Given the description of an element on the screen output the (x, y) to click on. 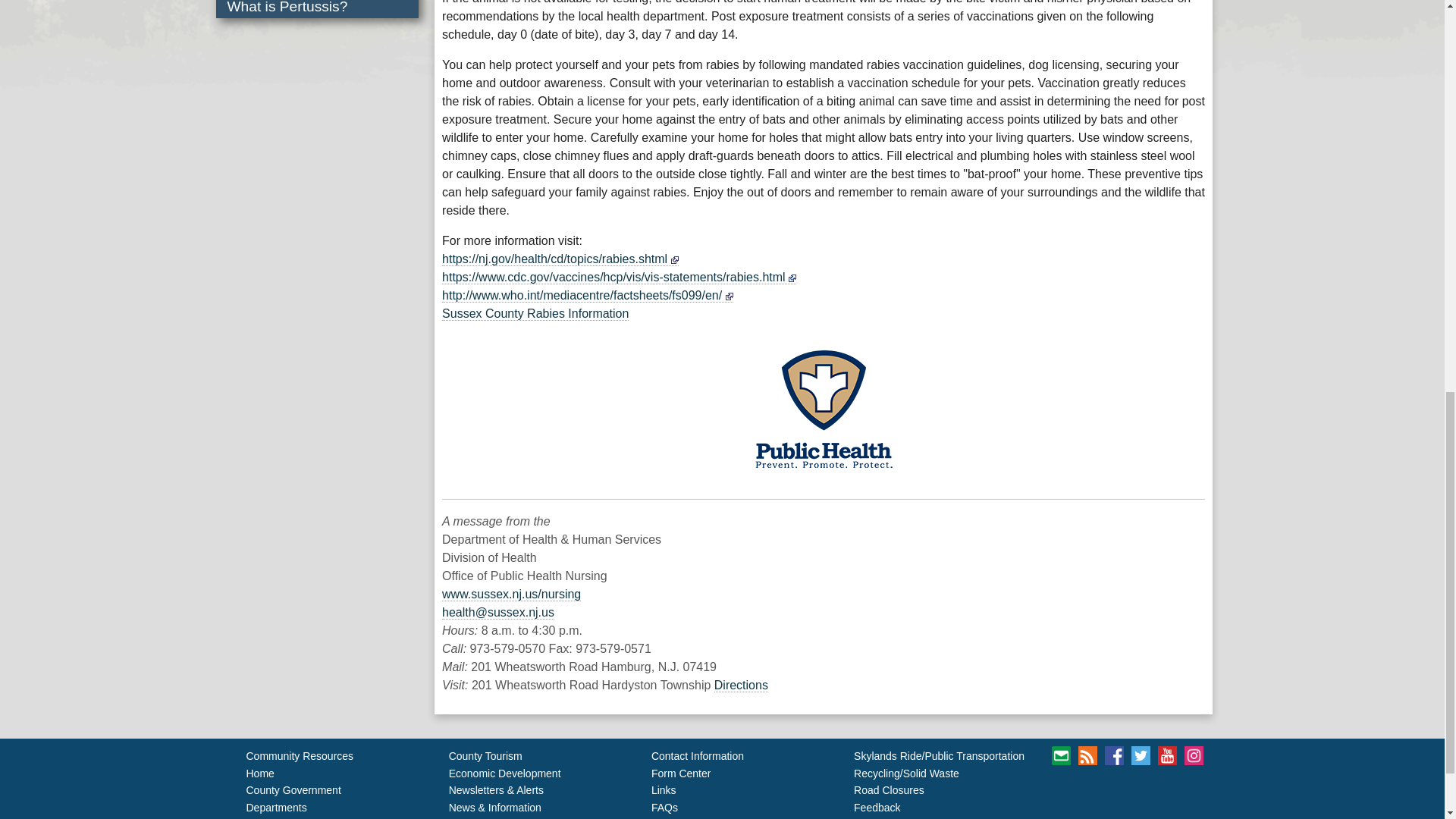
Visit our YouTube channel (1166, 755)
Visit our Facebook page (1114, 755)
Visit our Instagram page (1194, 755)
Follow us on Twitter (1140, 755)
Visit our RSS feed (1087, 755)
Sign Up for emails from Sussex County (1060, 755)
